Given the description of an element on the screen output the (x, y) to click on. 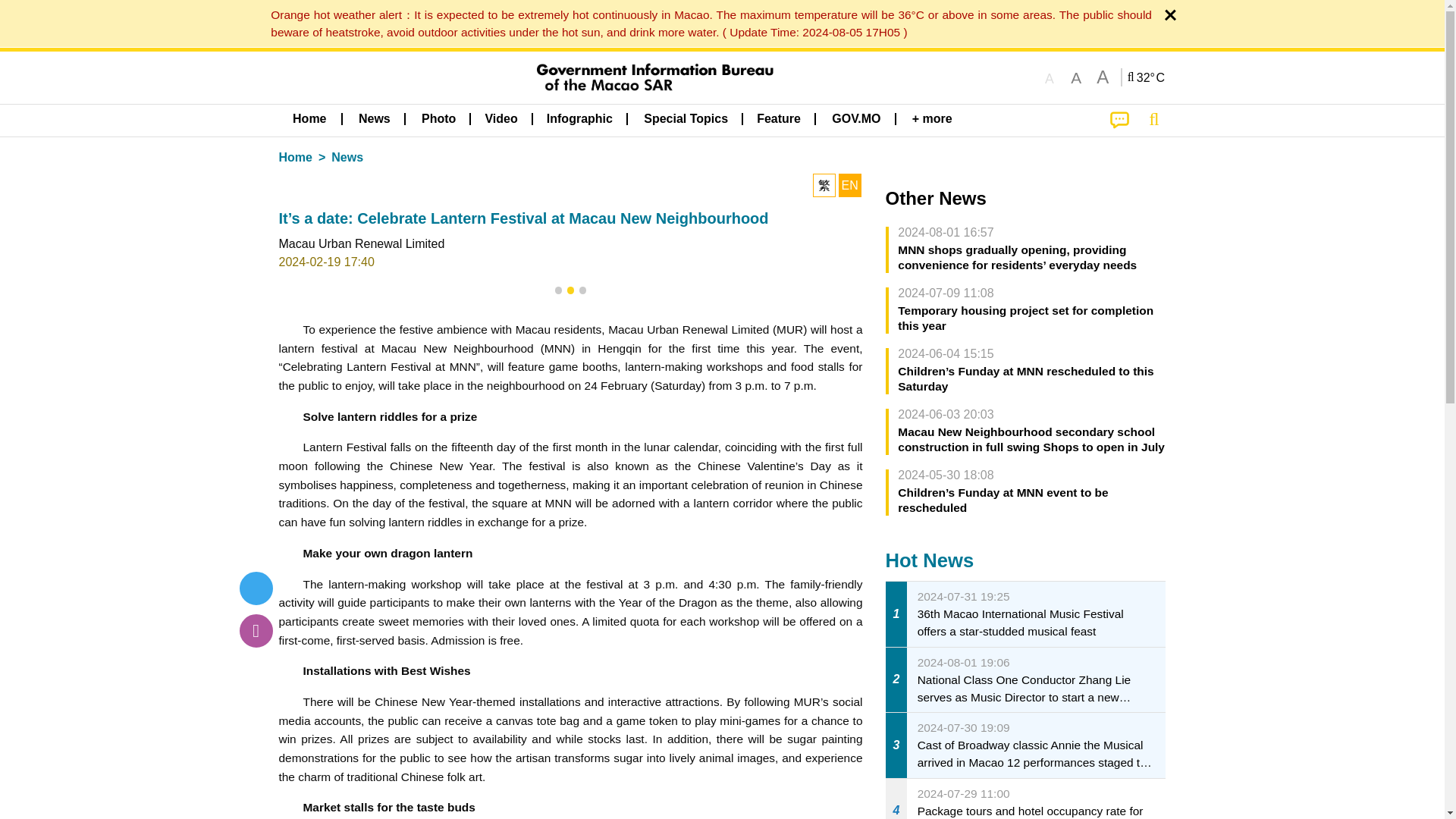
Special Info (708, 23)
A (1075, 76)
Suggestions (1118, 120)
A (1048, 76)
A (1102, 76)
Home (309, 118)
Special Info (1146, 77)
